Given the description of an element on the screen output the (x, y) to click on. 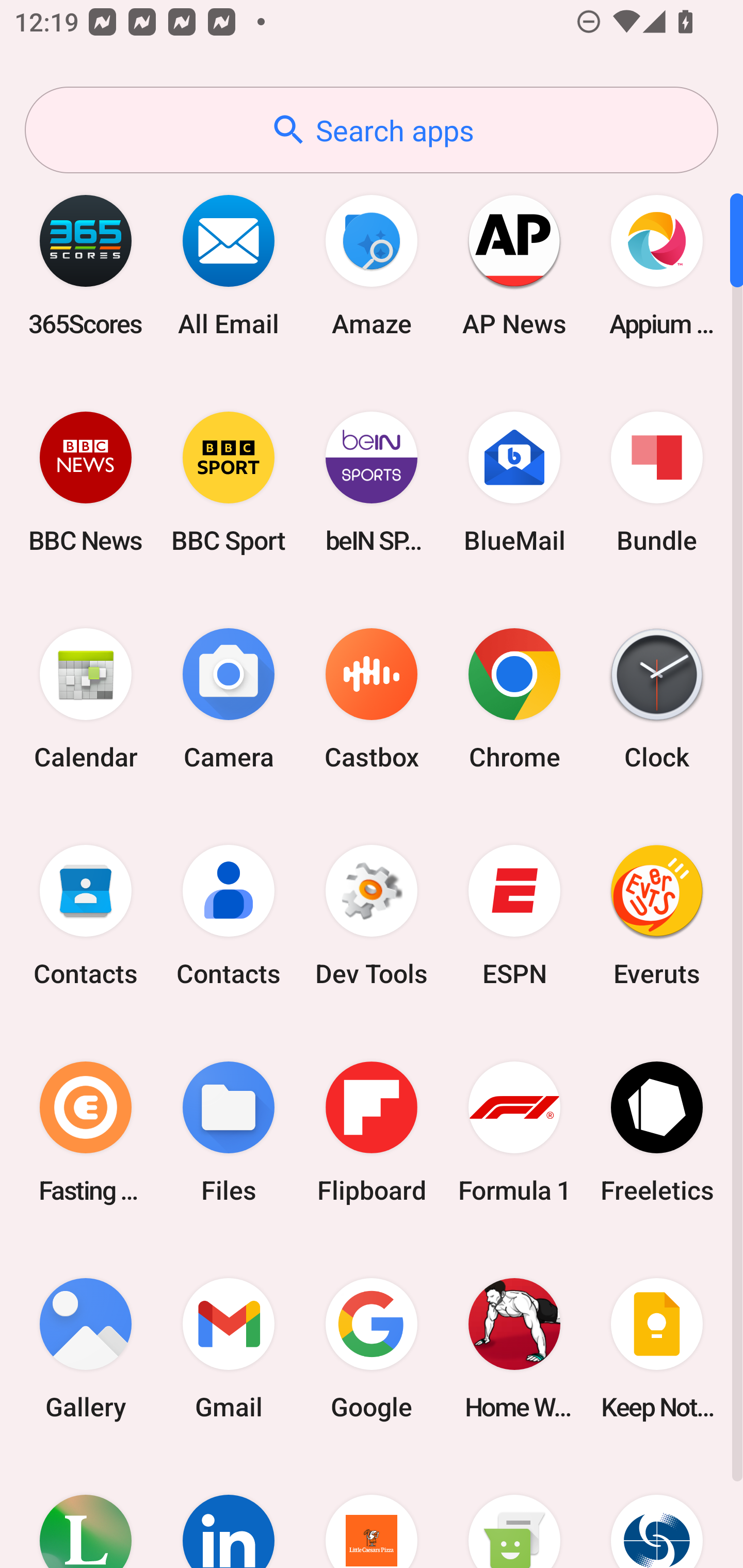
  Search apps (371, 130)
365Scores (85, 264)
All Email (228, 264)
Amaze (371, 264)
AP News (514, 264)
Appium Settings (656, 264)
BBC News (85, 482)
BBC Sport (228, 482)
beIN SPORTS (371, 482)
BlueMail (514, 482)
Bundle (656, 482)
Calendar (85, 699)
Camera (228, 699)
Castbox (371, 699)
Chrome (514, 699)
Clock (656, 699)
Contacts (85, 915)
Contacts (228, 915)
Dev Tools (371, 915)
ESPN (514, 915)
Everuts (656, 915)
Fasting Coach (85, 1131)
Files (228, 1131)
Flipboard (371, 1131)
Formula 1 (514, 1131)
Freeletics (656, 1131)
Gallery (85, 1348)
Gmail (228, 1348)
Google (371, 1348)
Home Workout (514, 1348)
Keep Notes (656, 1348)
